Given the description of an element on the screen output the (x, y) to click on. 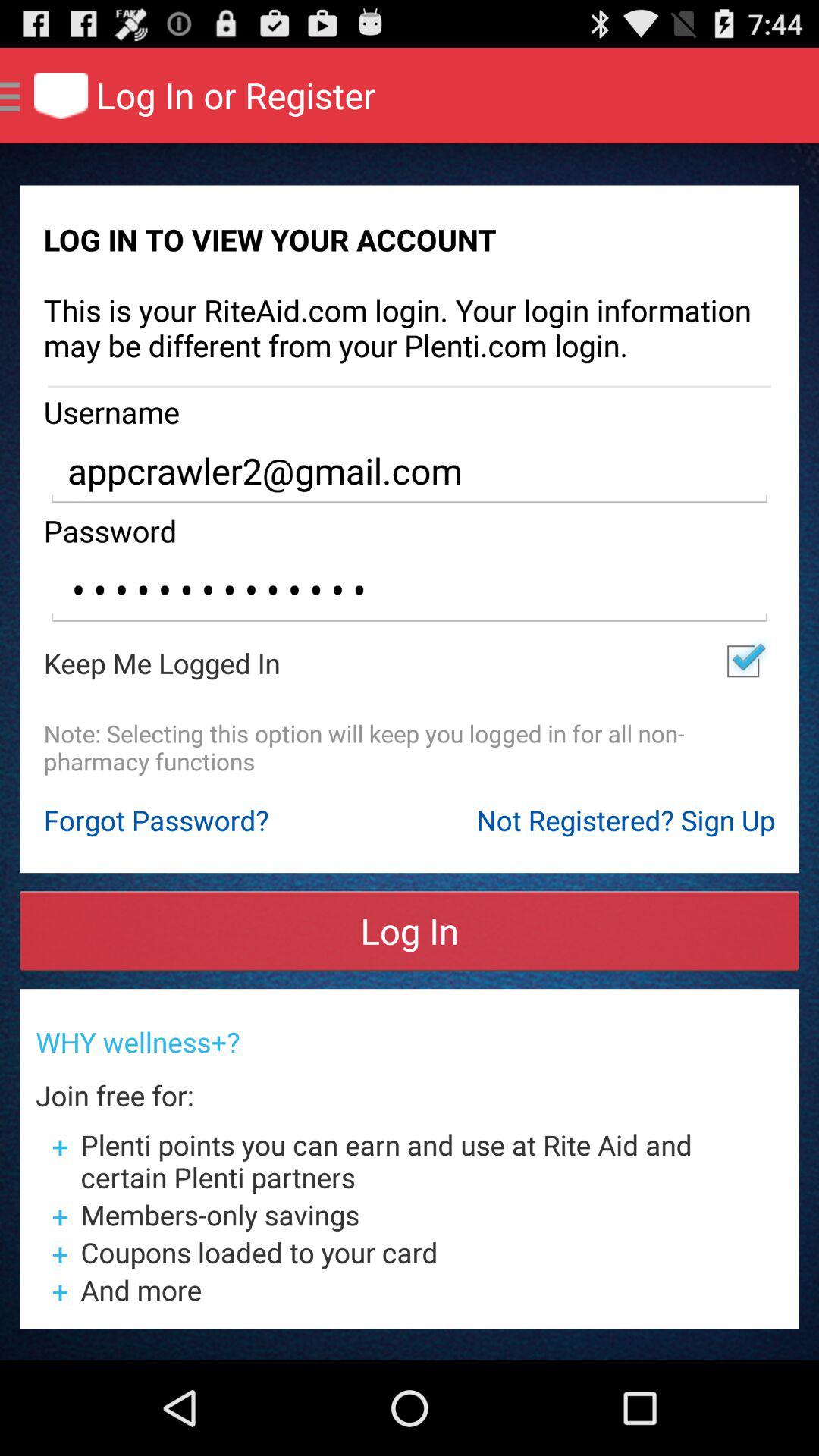
open app below the password item (409, 590)
